Given the description of an element on the screen output the (x, y) to click on. 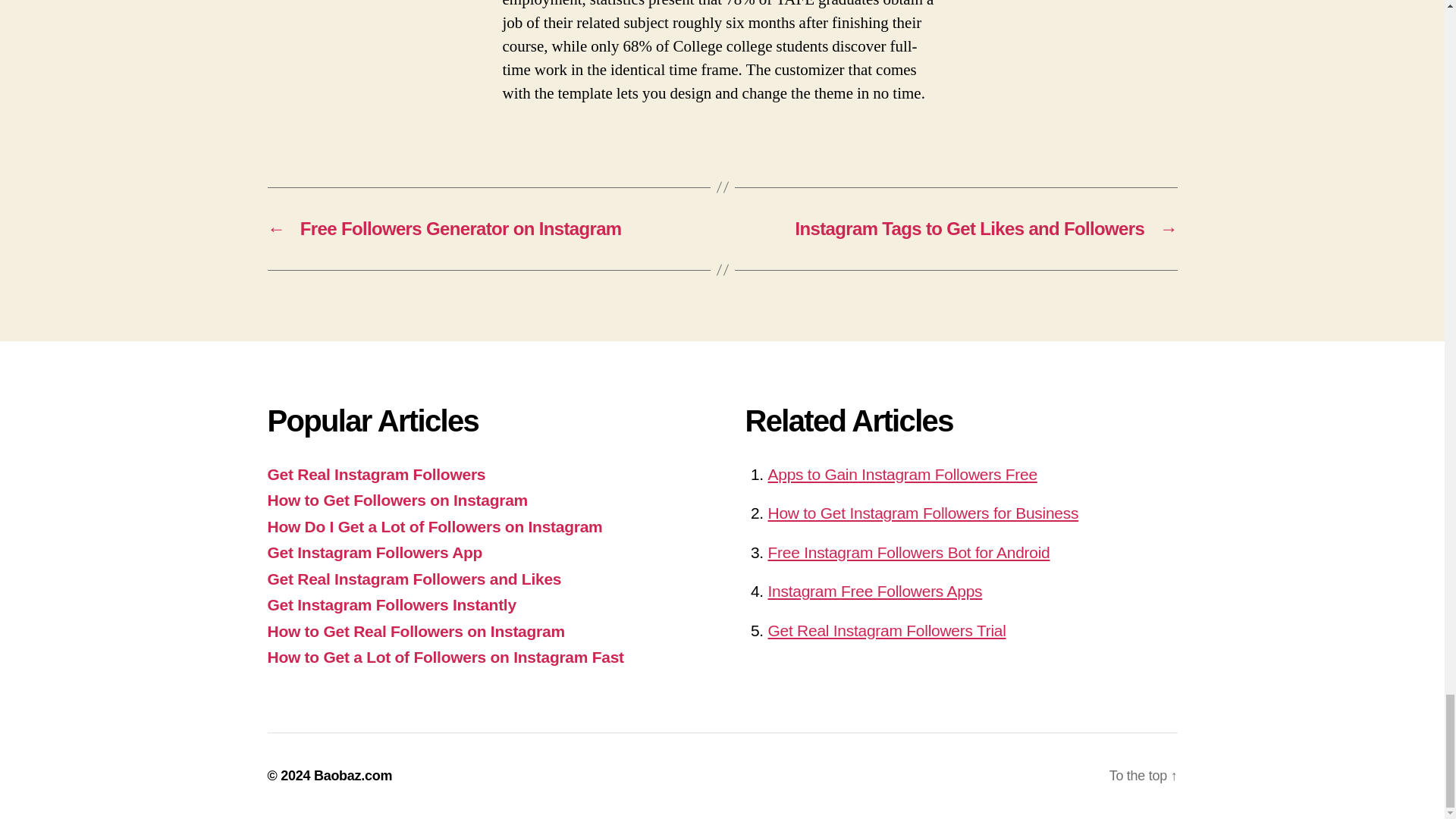
Instagram Free Followers Apps (874, 590)
Get Instagram Followers Instantly (390, 604)
How to Get Instagram Followers for Business (922, 512)
How to Get Real Followers on Instagram (415, 630)
Baobaz.com (352, 775)
Get Instagram Followers App (373, 552)
Get Real Instagram Followers Trial (886, 629)
Apps to Gain Instagram Followers Free (901, 473)
Free Instagram Followers Bot for Android (908, 552)
How to Get Followers on Instagram (396, 499)
